Given the description of an element on the screen output the (x, y) to click on. 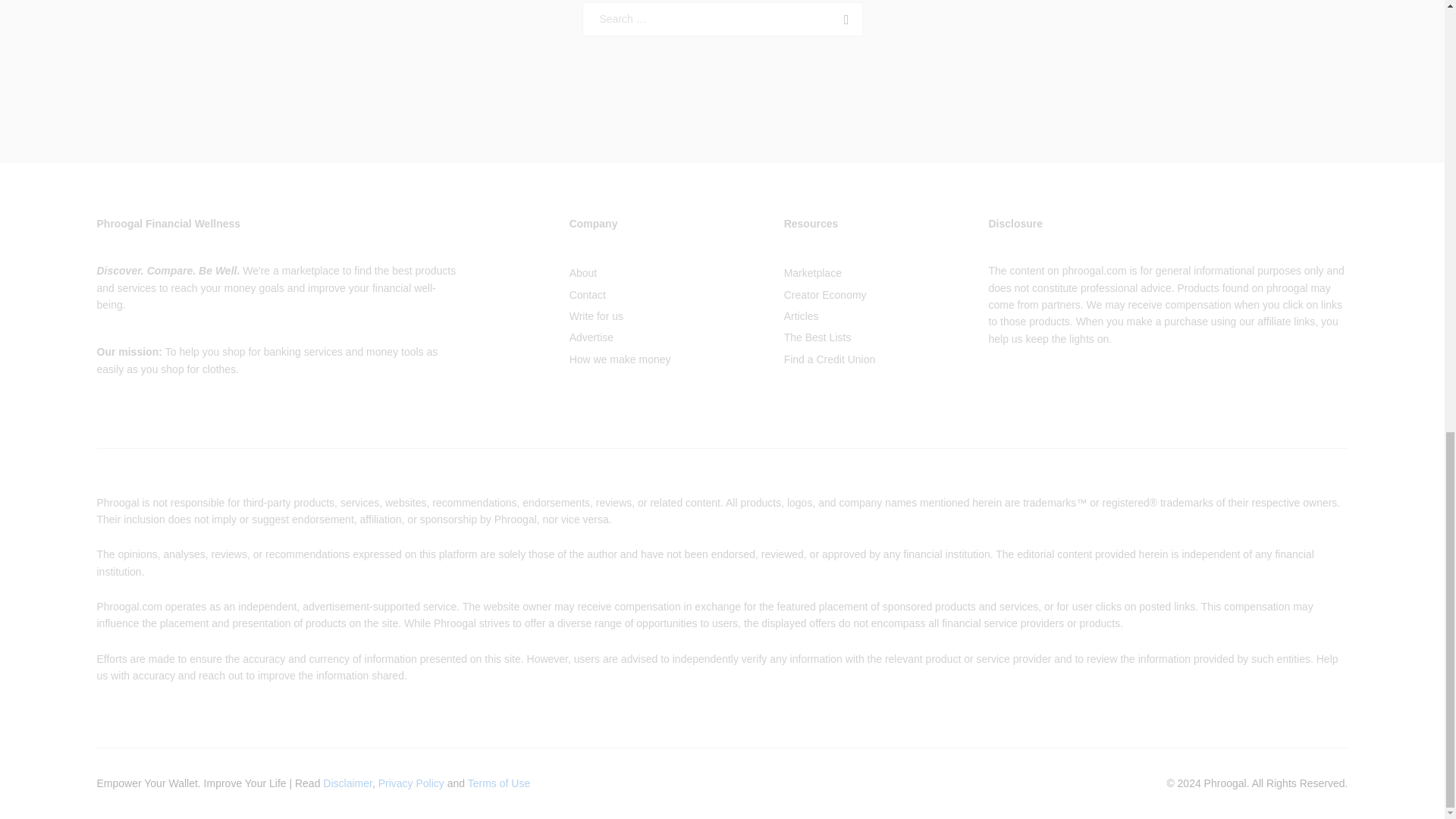
Search (843, 19)
Search (843, 19)
Search (843, 19)
About (582, 272)
Contact (587, 295)
